Given the description of an element on the screen output the (x, y) to click on. 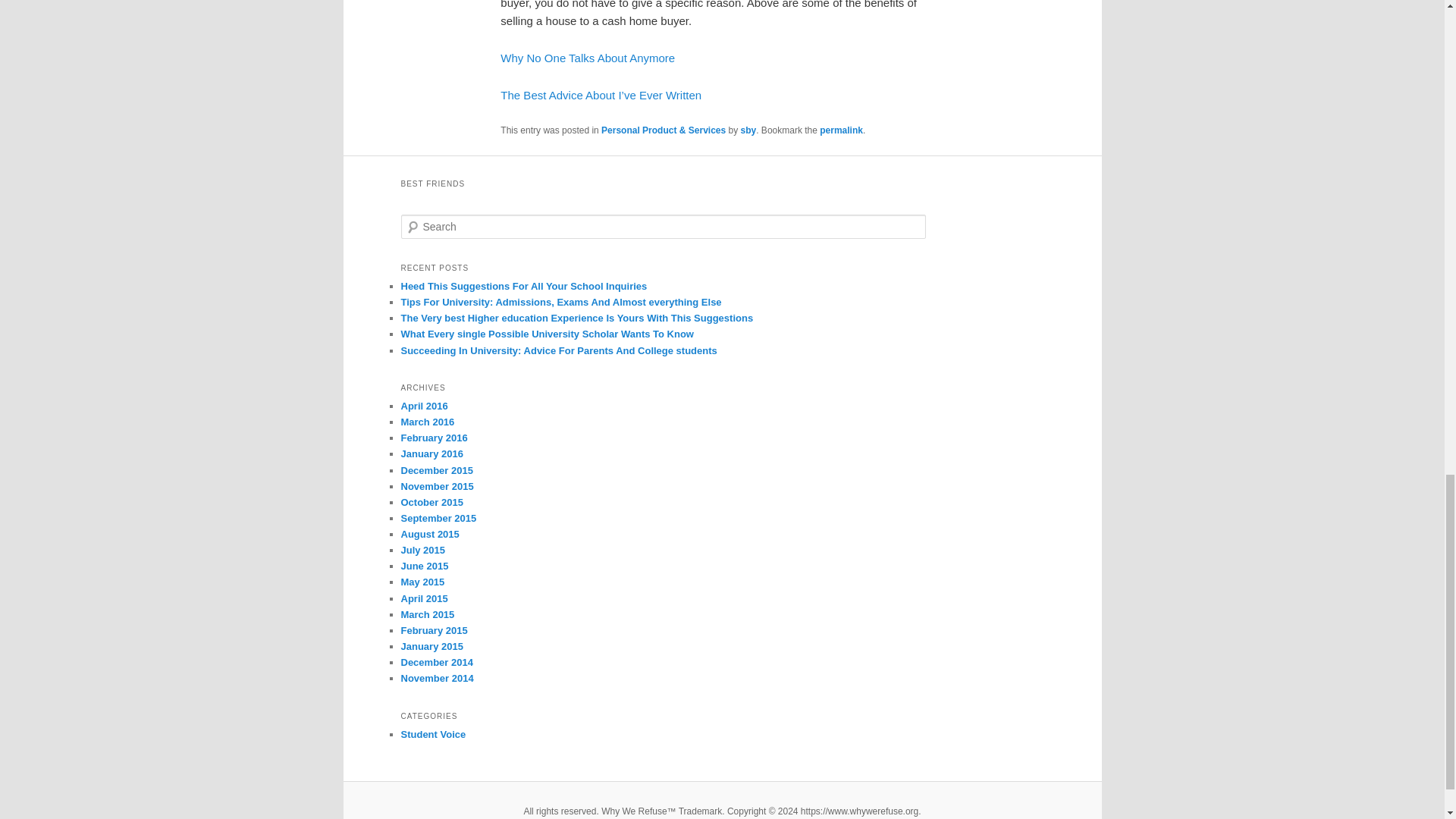
July 2015 (422, 550)
June 2015 (424, 565)
November 2015 (436, 486)
sby (749, 130)
What Every single Possible University Scholar Wants To Know (546, 333)
April 2016 (423, 405)
May 2015 (422, 582)
